Given the description of an element on the screen output the (x, y) to click on. 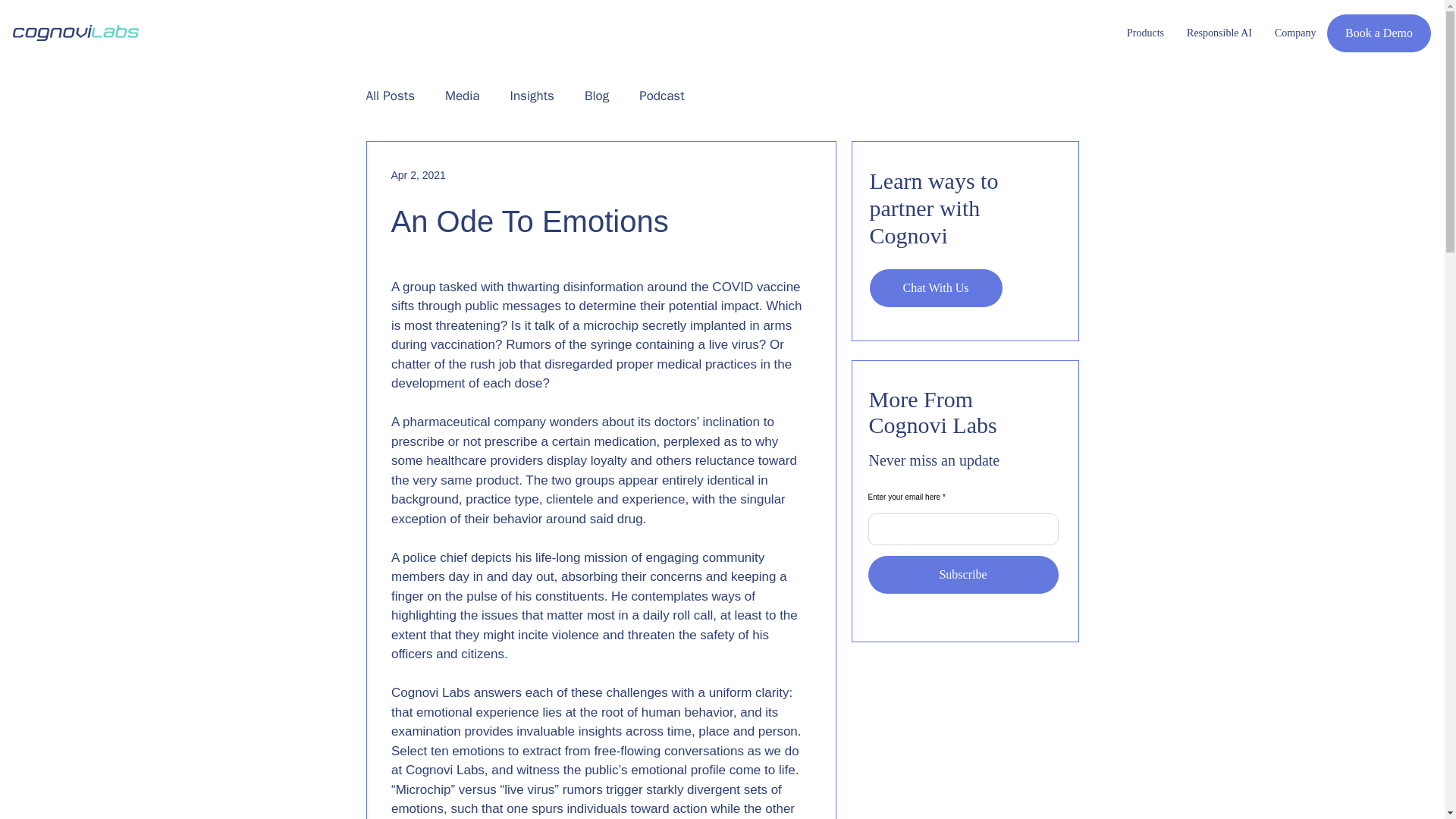
Subscribe (962, 574)
Podcast (661, 95)
Book a Demo (1378, 33)
Media (462, 95)
Responsible AI (1218, 33)
Blog (596, 95)
Insights (532, 95)
Apr 2, 2021 (418, 174)
Chat With Us (935, 288)
All Posts (389, 95)
